Given the description of an element on the screen output the (x, y) to click on. 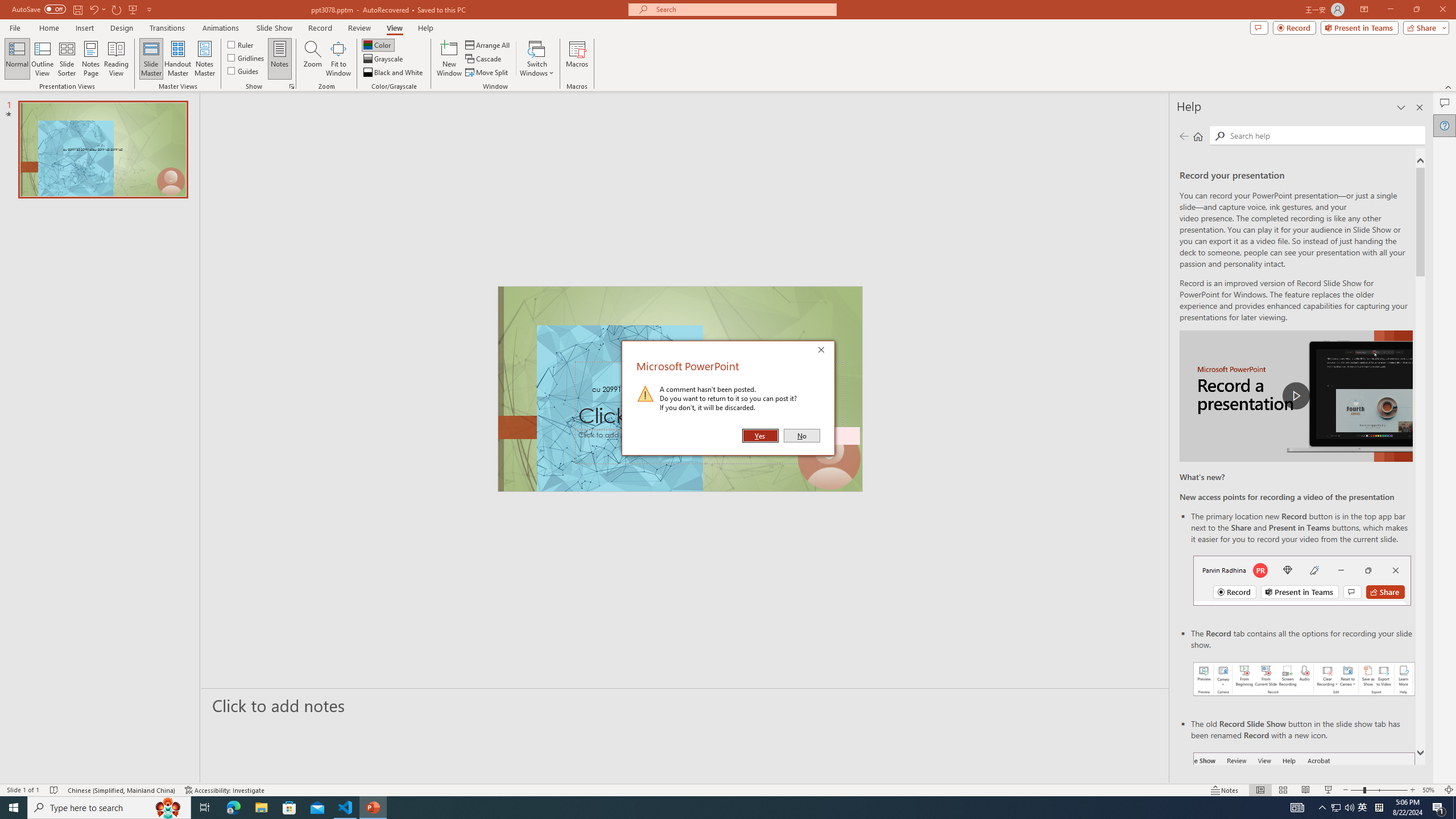
Guides (243, 69)
Black and White (393, 72)
Outline View (42, 58)
File Explorer (261, 807)
Search highlights icon opens search home window (167, 807)
Comments (1259, 27)
Notes  (1225, 790)
Type here to search (108, 807)
Redo (117, 9)
Grayscale (383, 58)
Insert (83, 28)
Microsoft search (742, 9)
Switch Windows (537, 58)
